Given the description of an element on the screen output the (x, y) to click on. 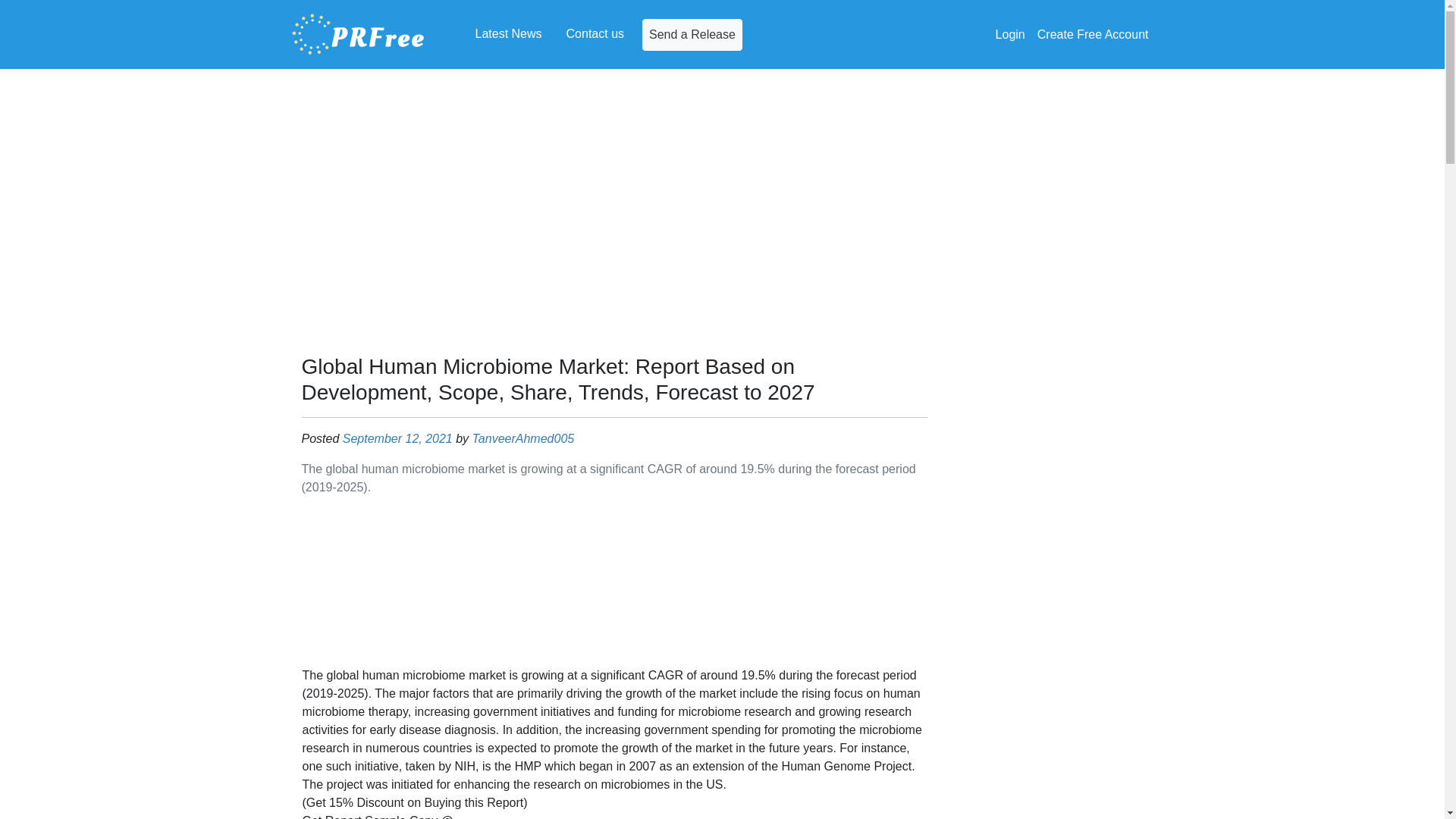
Create Free Account (1092, 34)
Send a Release (692, 33)
PFRree (357, 34)
TanveerAhmed005 (523, 438)
September 12, 2021 (397, 438)
Login (1010, 34)
Contact us (595, 33)
Advertisement (614, 584)
Latest News (507, 33)
